Given the description of an element on the screen output the (x, y) to click on. 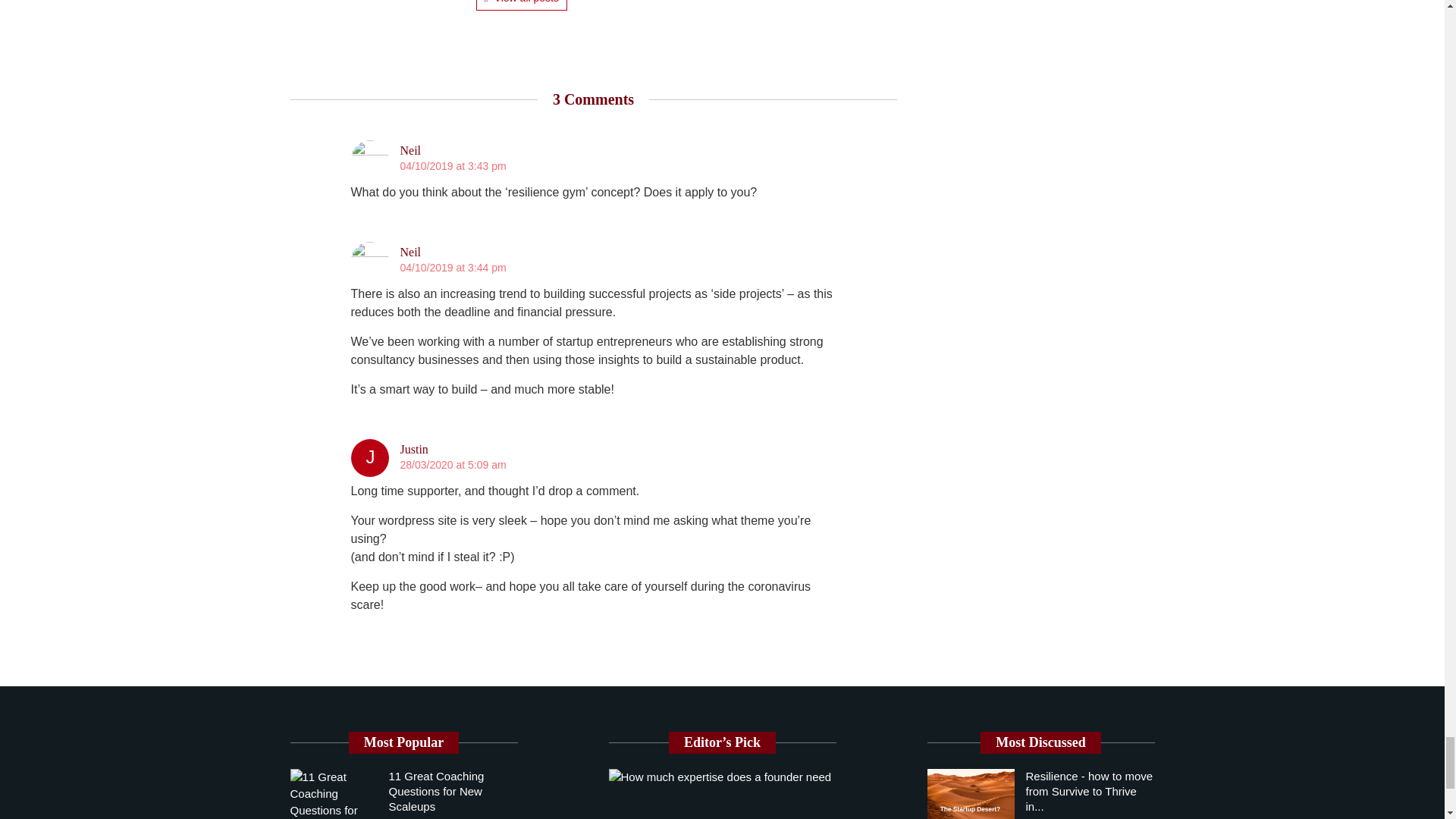
11 Great Coaching Questions for New Scaleups (333, 794)
11 Great Coaching Questions for New Scaleups (435, 791)
